Given the description of an element on the screen output the (x, y) to click on. 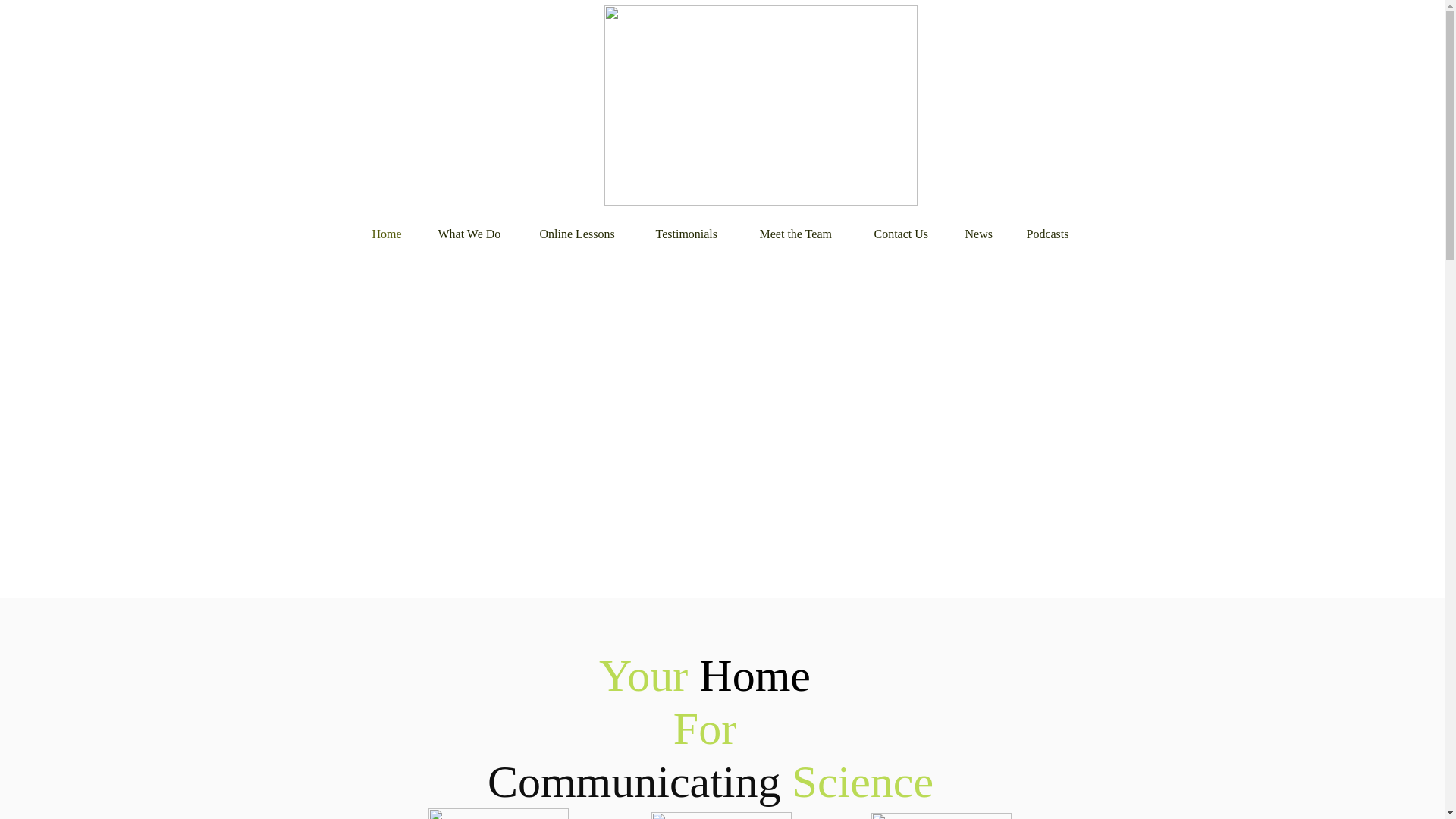
Online Lessons (585, 233)
Home (393, 233)
What We Do (476, 233)
Contact Us (908, 233)
Meet the Team (804, 233)
Podcasts (1053, 233)
News (983, 233)
Testimonials (696, 233)
